Given the description of an element on the screen output the (x, y) to click on. 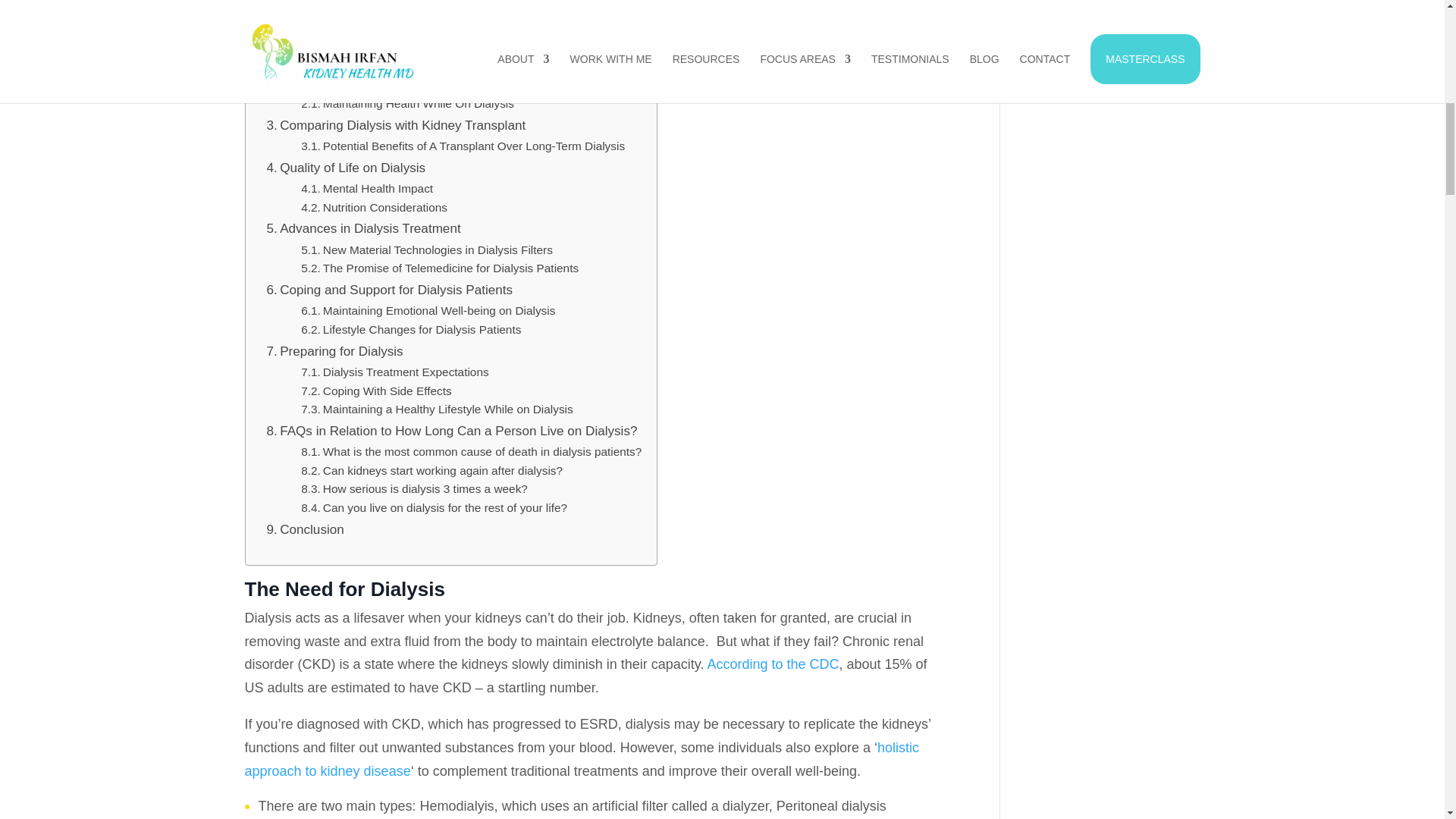
New Material Technologies in Dialysis Filters (427, 250)
The Need for Dialysis (335, 62)
Quality of Life on Dialysis (346, 168)
Quality of Life on Dialysis (346, 168)
Nutrition Considerations (373, 208)
Preparing for Dialysis (334, 351)
Maintaining Emotional Well-being on Dialysis (427, 311)
Life Expectancy on Dialysis (352, 82)
The Promise of Telemedicine for Dialysis Patients (439, 268)
FAQs in Relation to How Long Can a Person Live on Dialysis? (451, 430)
Life Expectancy on Dialysis (352, 82)
Advances in Dialysis Treatment (363, 228)
Dialysis Treatment Expectations (394, 372)
Maintaining a Healthy Lifestyle While on Dialysis (437, 409)
Comparing Dialysis with Kidney Transplant (395, 125)
